Given the description of an element on the screen output the (x, y) to click on. 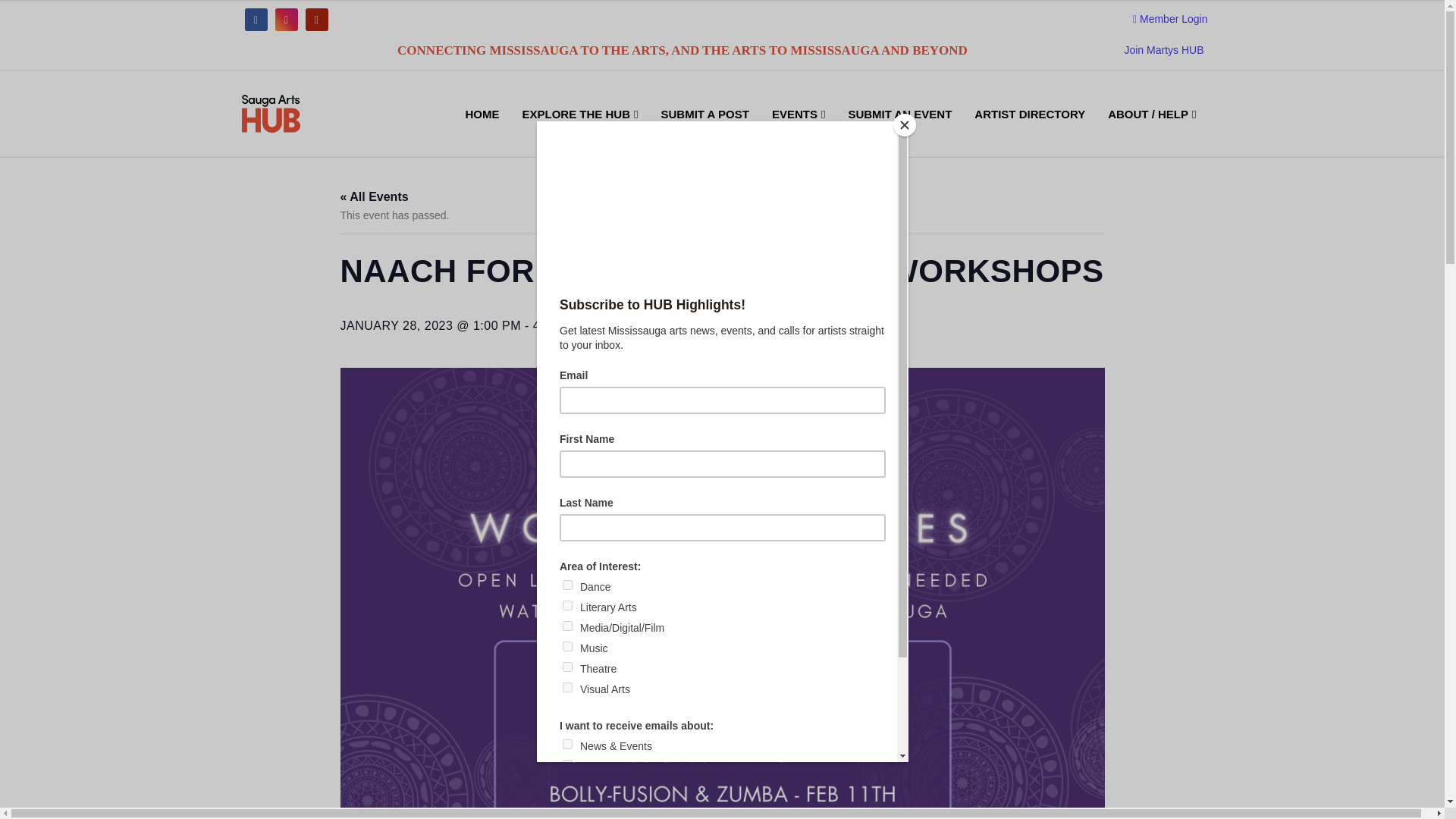
EXPLORE THE HUB (579, 132)
SUBMIT AN EVENT (899, 132)
Member Login (1170, 19)
ARTIST DIRECTORY (1029, 132)
Join Martys HUB (1163, 50)
EVENTS (798, 132)
SUBMIT A POST (704, 132)
